Given the description of an element on the screen output the (x, y) to click on. 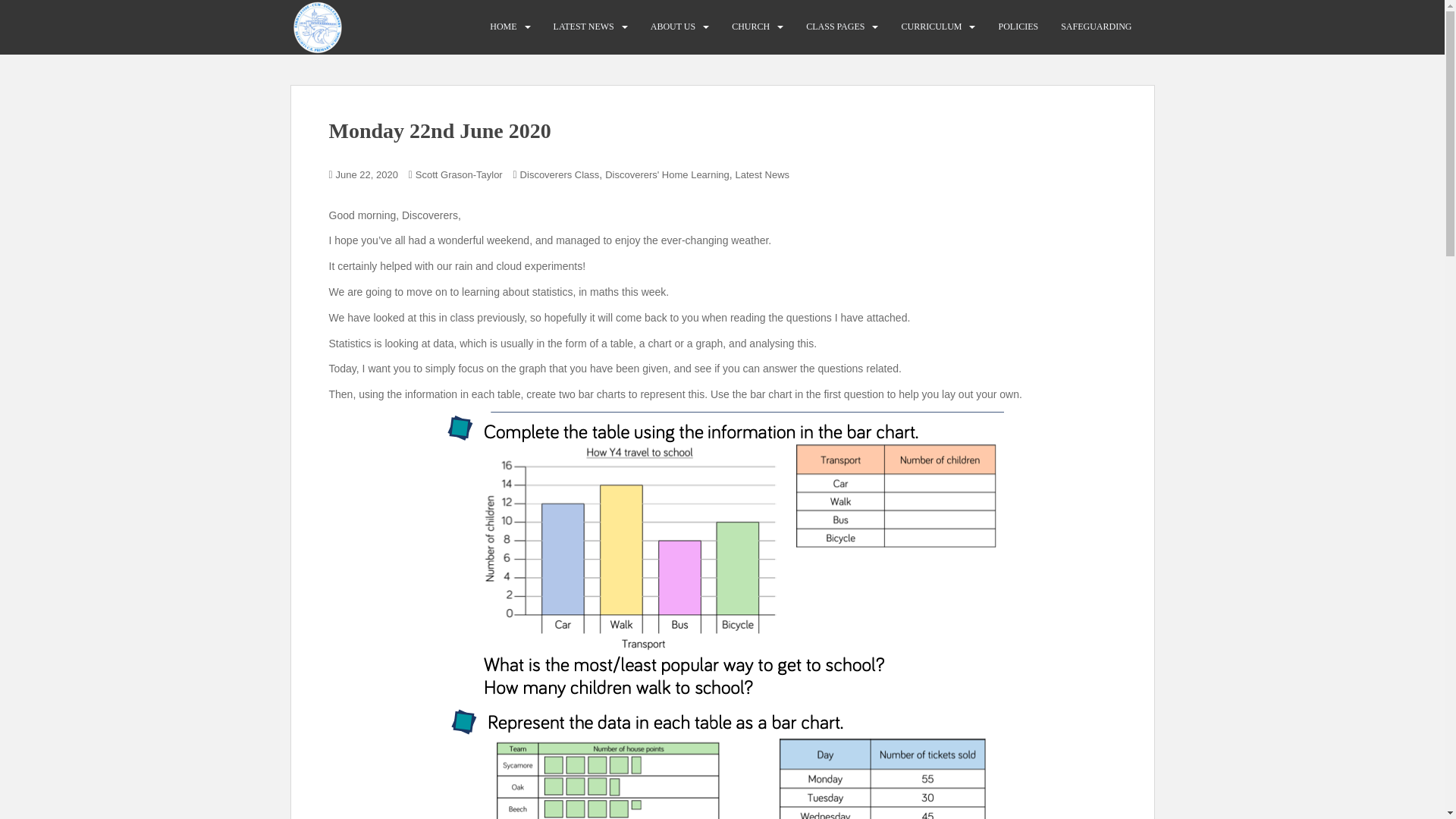
LATEST NEWS (583, 26)
CLASS PAGES (835, 26)
CHURCH (751, 26)
ABOUT US (672, 26)
